Given the description of an element on the screen output the (x, y) to click on. 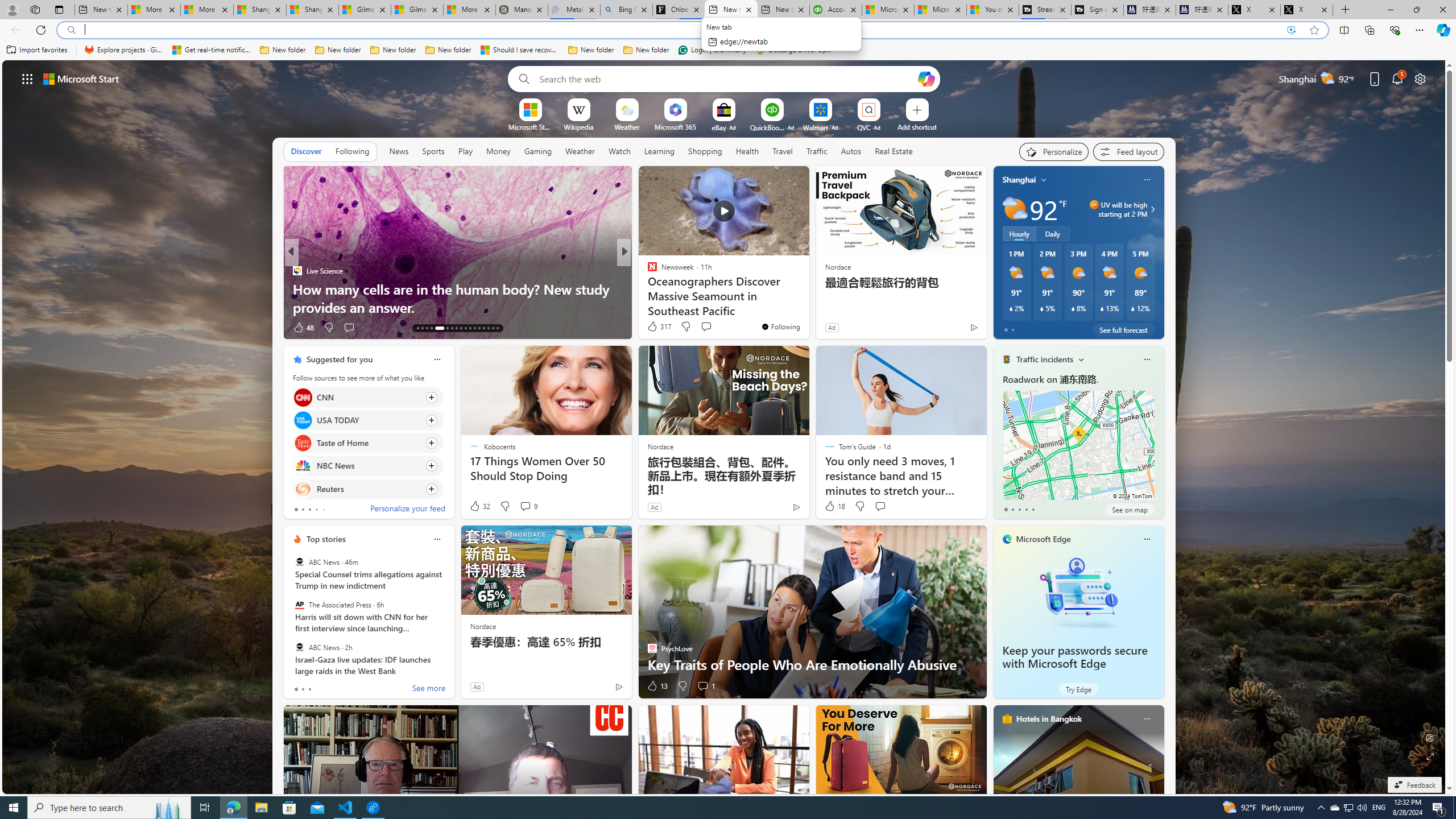
Money (497, 151)
Shanghai, China weather forecast | Microsoft Weather (312, 9)
48 Like (303, 327)
My location (1043, 179)
Chloe Sorvino (678, 9)
Autos (851, 151)
USA TODAY College Sports Wire (647, 270)
Not Your Boss Babe (647, 270)
The Associated Press (299, 604)
AutomationID: tab-14 (422, 328)
